Given the description of an element on the screen output the (x, y) to click on. 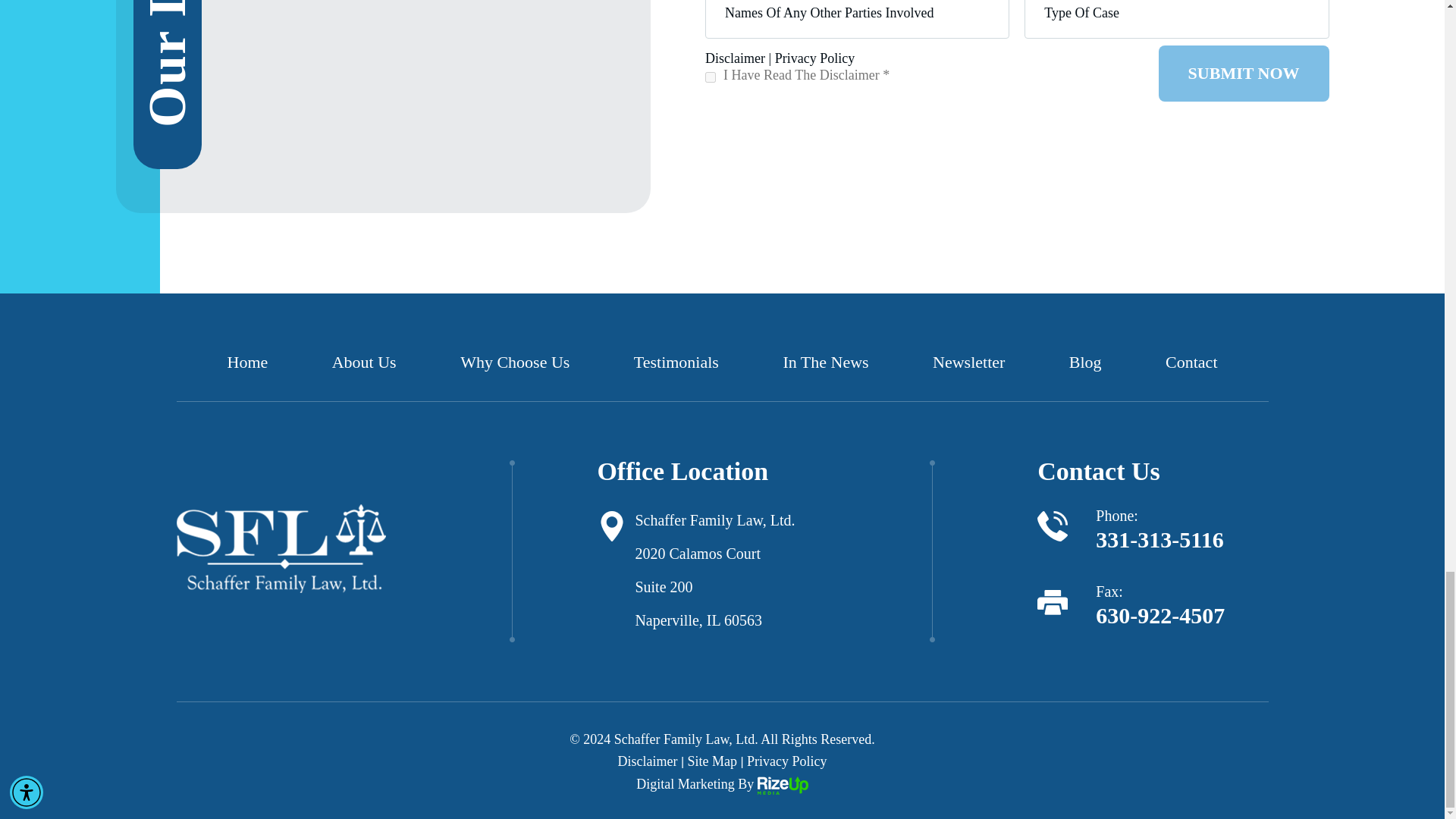
Submit Now (1243, 73)
